Given the description of an element on the screen output the (x, y) to click on. 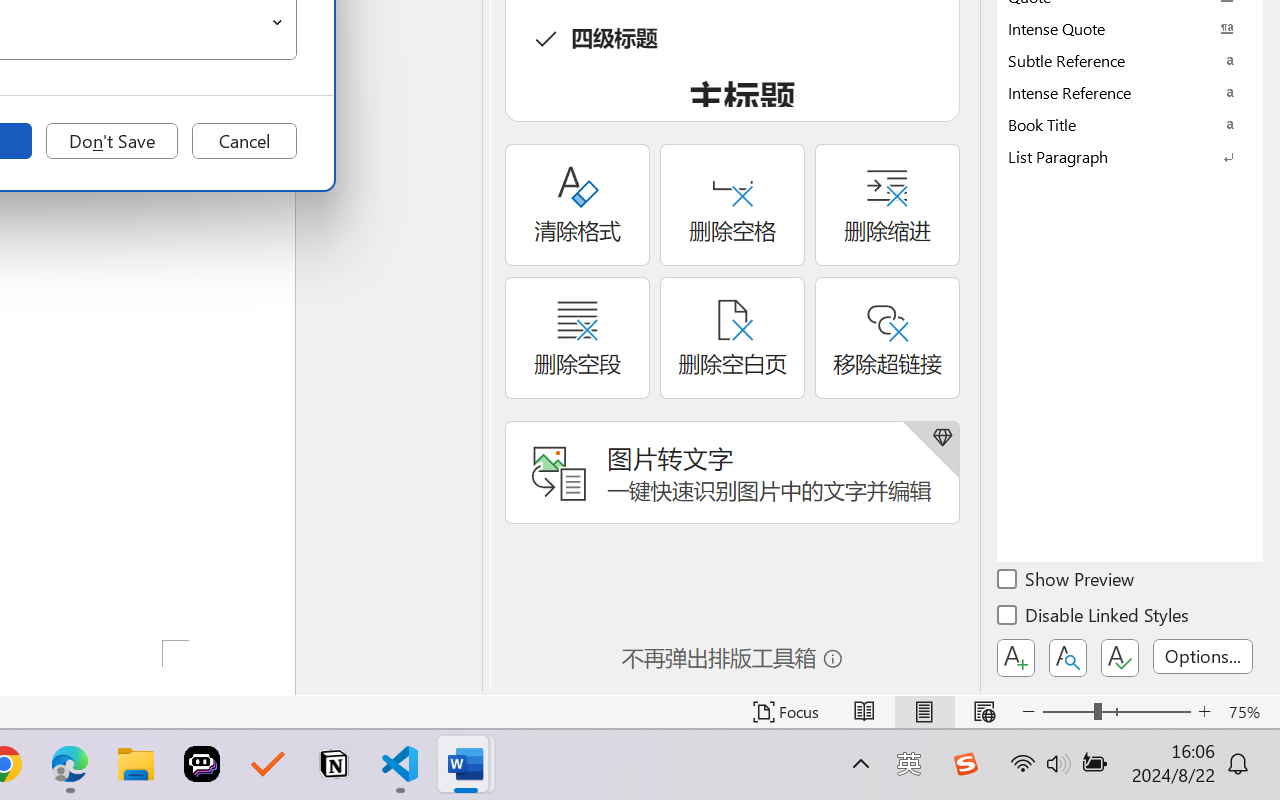
Zoom Out (1067, 712)
Class: Image (965, 764)
Zoom (1116, 712)
